Given the description of an element on the screen output the (x, y) to click on. 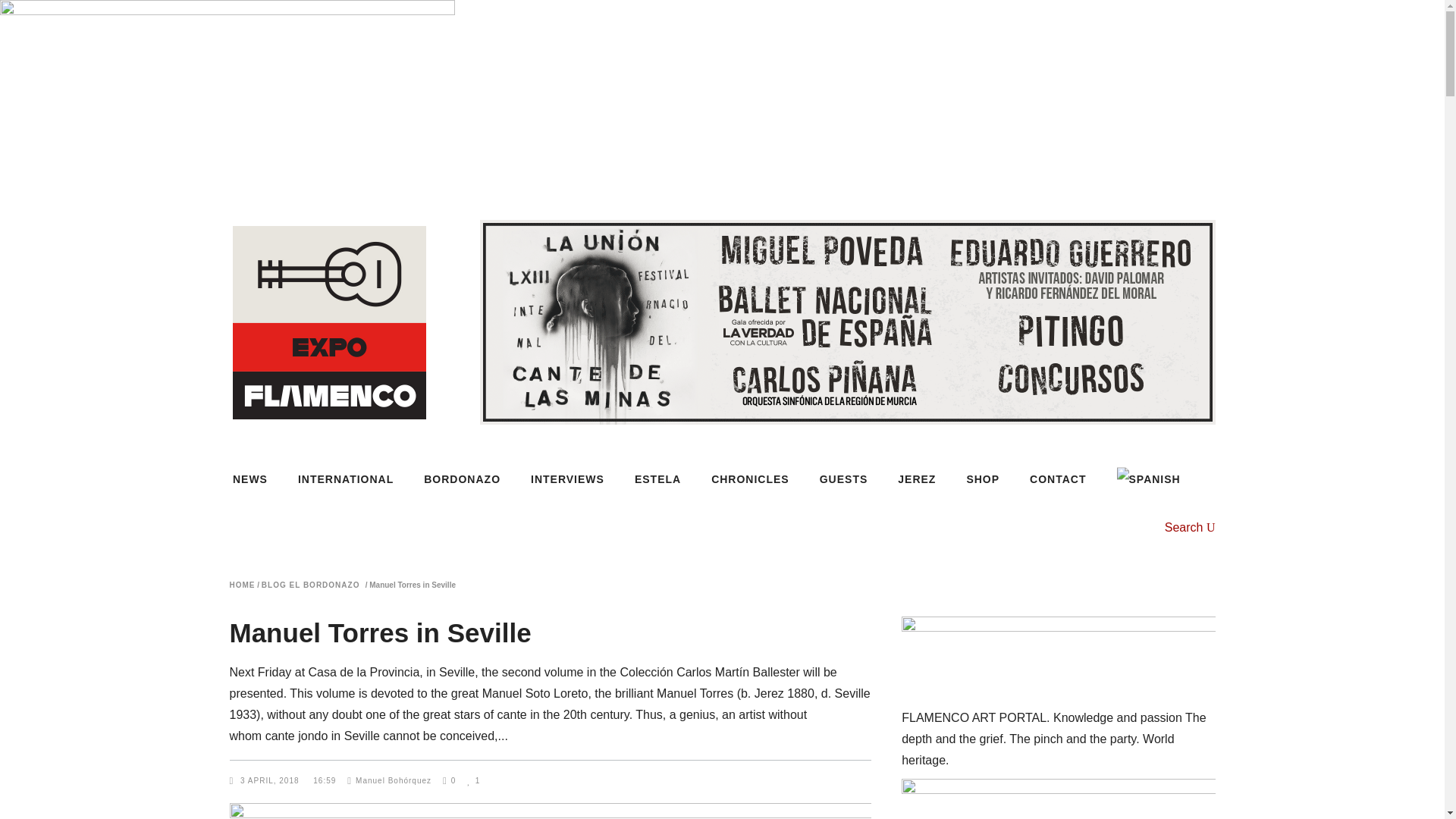
NEWS (257, 479)
INTERNATIONAL (345, 479)
Search (1189, 526)
CONTACT (1057, 479)
GUESTS (844, 479)
INTERVIEWS (567, 479)
SHOP (982, 479)
JEREZ (916, 479)
BORDONAZO (462, 479)
CHRONICLES (750, 479)
Like this (473, 780)
ESTELA (657, 479)
